Given the description of an element on the screen output the (x, y) to click on. 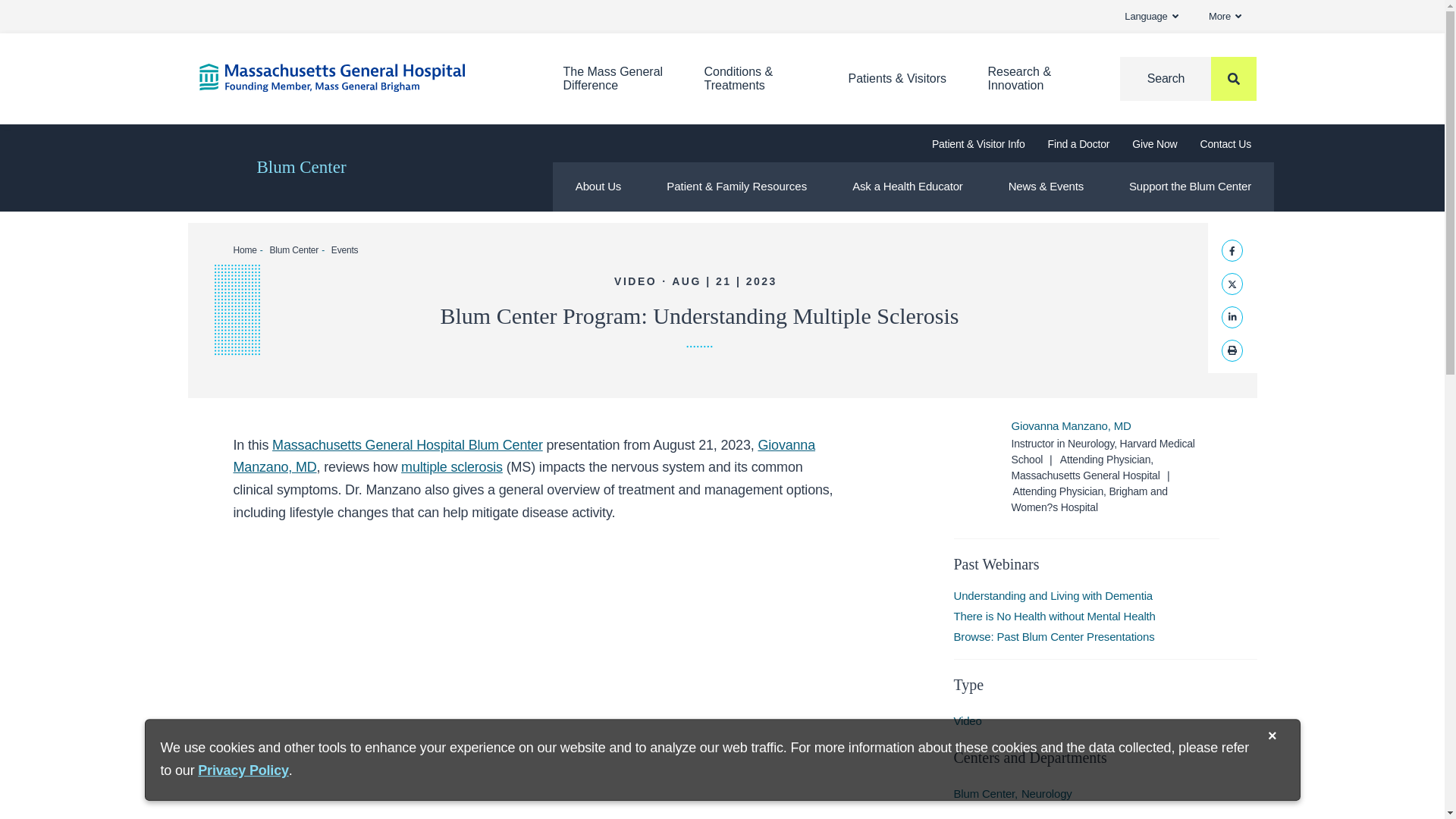
Language (612, 78)
Massachusetts General Hospital Blum Center (1151, 16)
More (407, 444)
Home (1224, 16)
